Given the description of an element on the screen output the (x, y) to click on. 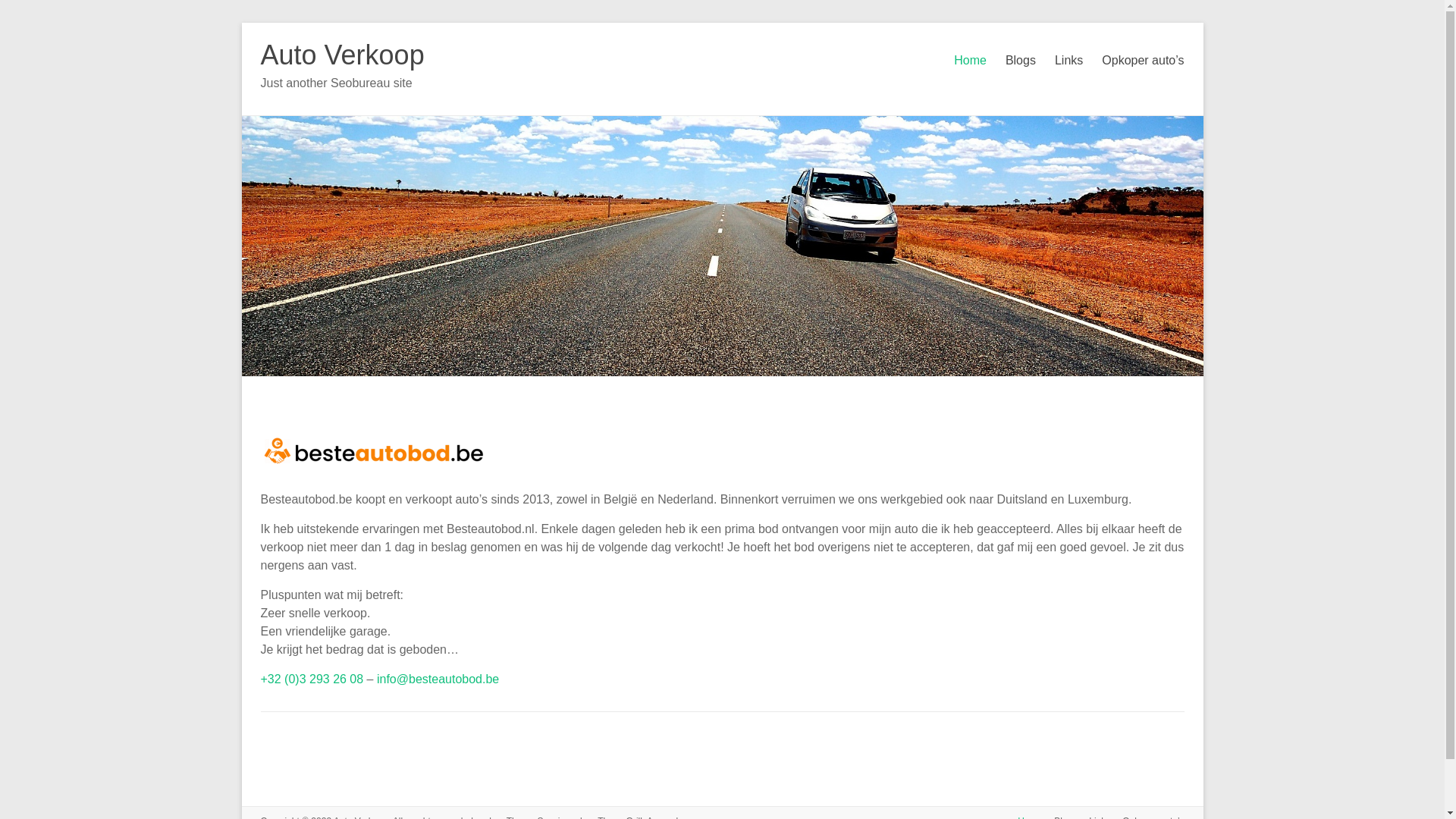
Auto Verkoop Element type: text (342, 54)
Ga naar inhoud Element type: text (241, 21)
Home Element type: text (969, 60)
Links Element type: text (1068, 60)
info@besteautobod.be Element type: text (437, 678)
Blogs Element type: text (1020, 60)
+32 (0)3 293 26 08 Element type: text (312, 678)
